Given the description of an element on the screen output the (x, y) to click on. 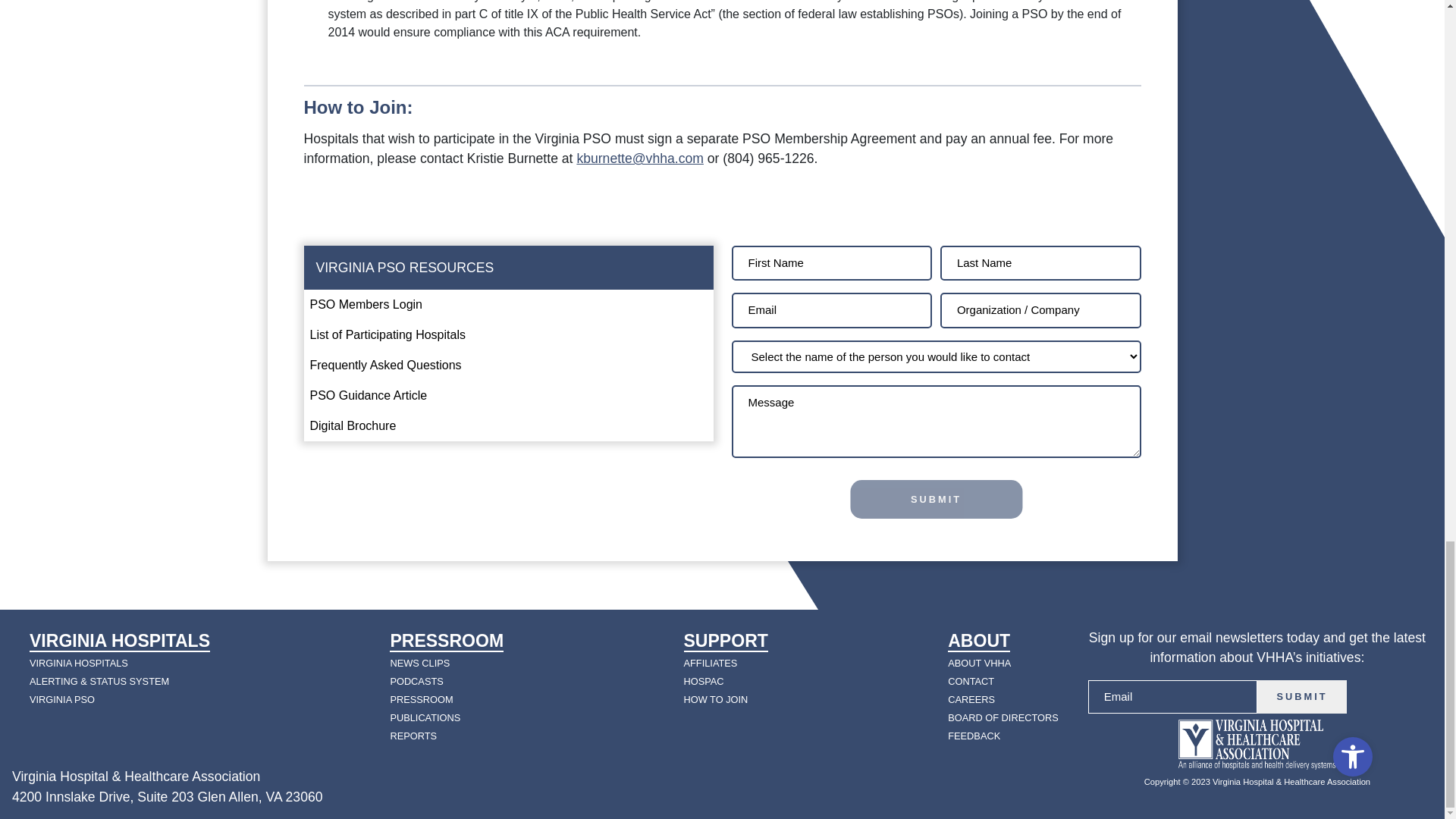
Submit (936, 498)
Submit (1301, 697)
